Given the description of an element on the screen output the (x, y) to click on. 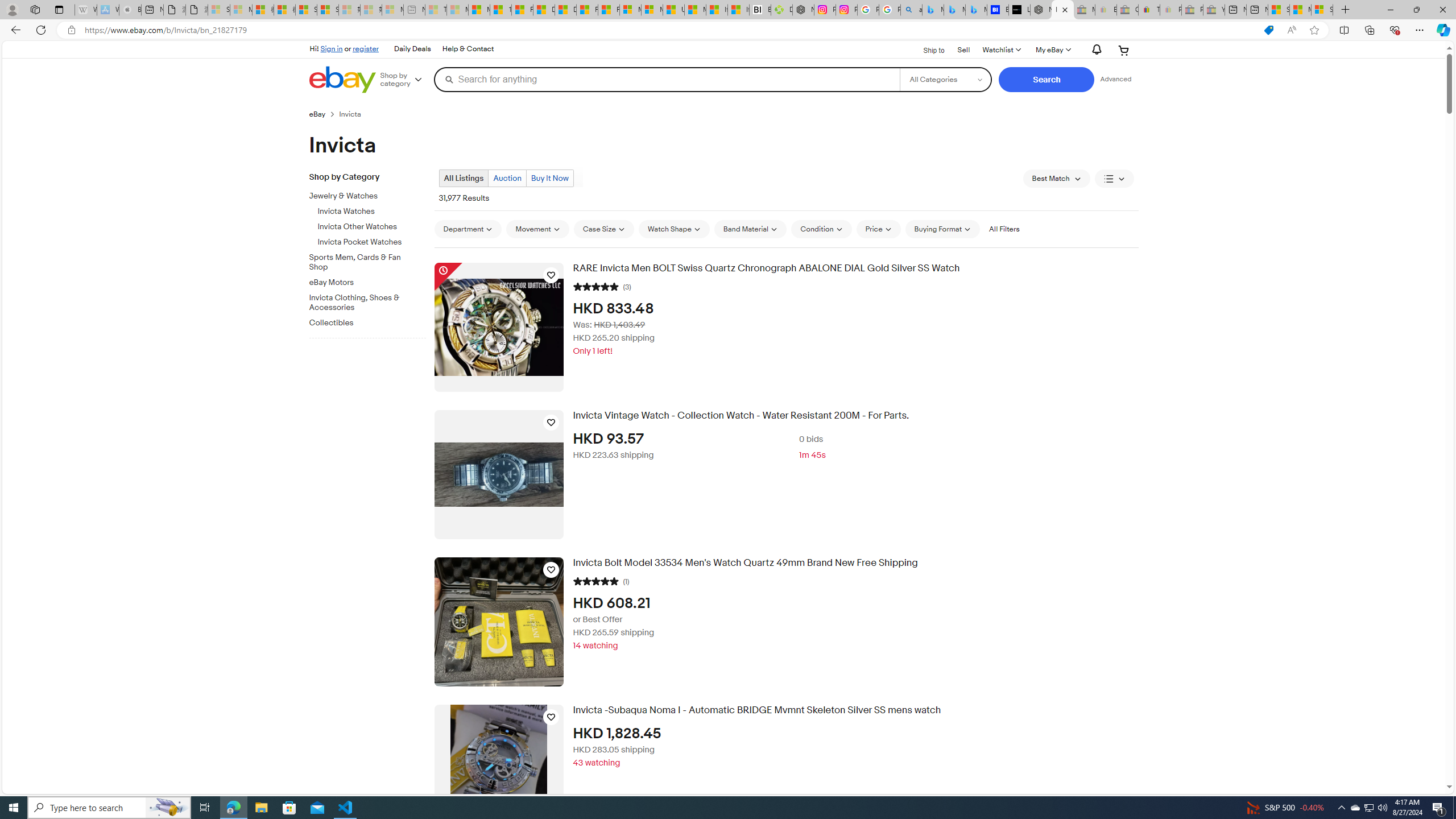
All Listings (463, 177)
Threats and offensive language policy | eBay (1149, 9)
Invicta (354, 113)
Auction (506, 177)
WatchlistExpand Watch List (1000, 49)
View: List View (1114, 178)
Movement (537, 229)
Nordace - Nordace Edin Collection (802, 9)
Watchlist (1000, 49)
